Given the description of an element on the screen output the (x, y) to click on. 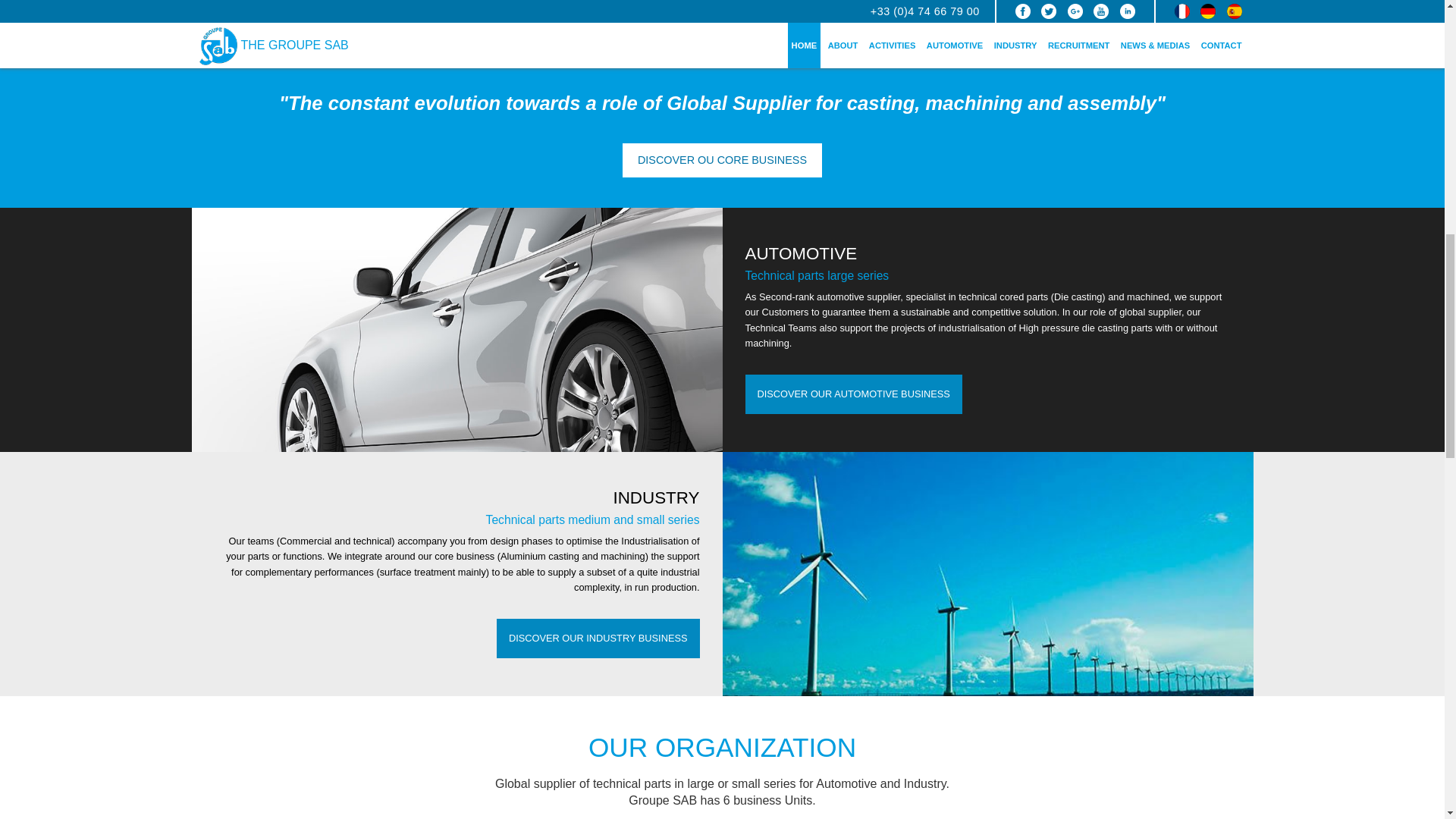
DISCOVER OU CORE BUSINESS (722, 159)
DISCOVER OU CORE BUSINESS (598, 638)
DISCOVER OU CORE BUSINESS (852, 394)
DISCOVER OUR AUTOMOTIVE BUSINESS (852, 394)
DISCOVER OU CORE BUSINESS (722, 159)
DISCOVER OUR INDUSTRY BUSINESS (598, 638)
